Given the description of an element on the screen output the (x, y) to click on. 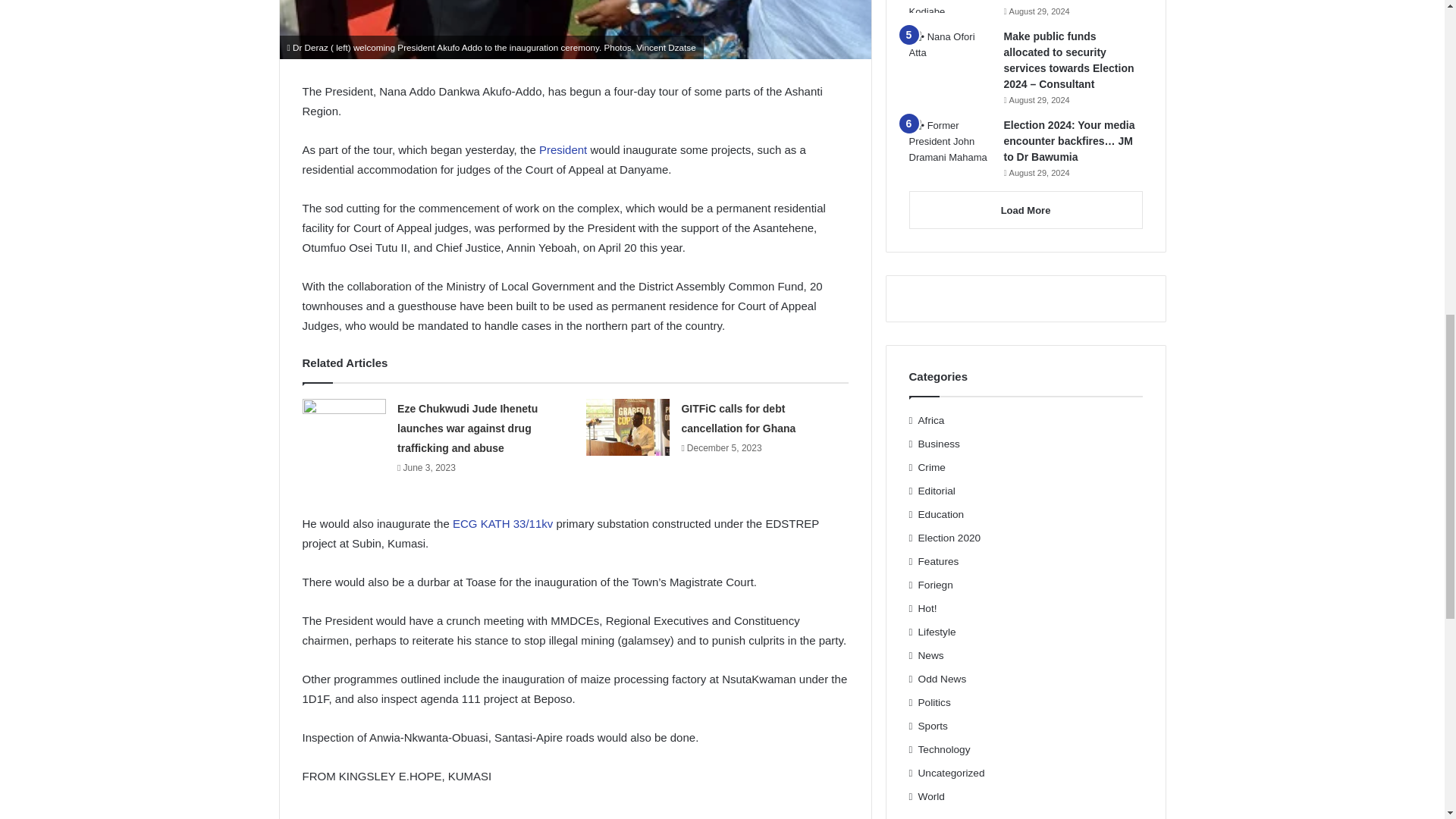
GITFiC calls for debt cancellation for Ghana (737, 418)
President (564, 149)
